Given the description of an element on the screen output the (x, y) to click on. 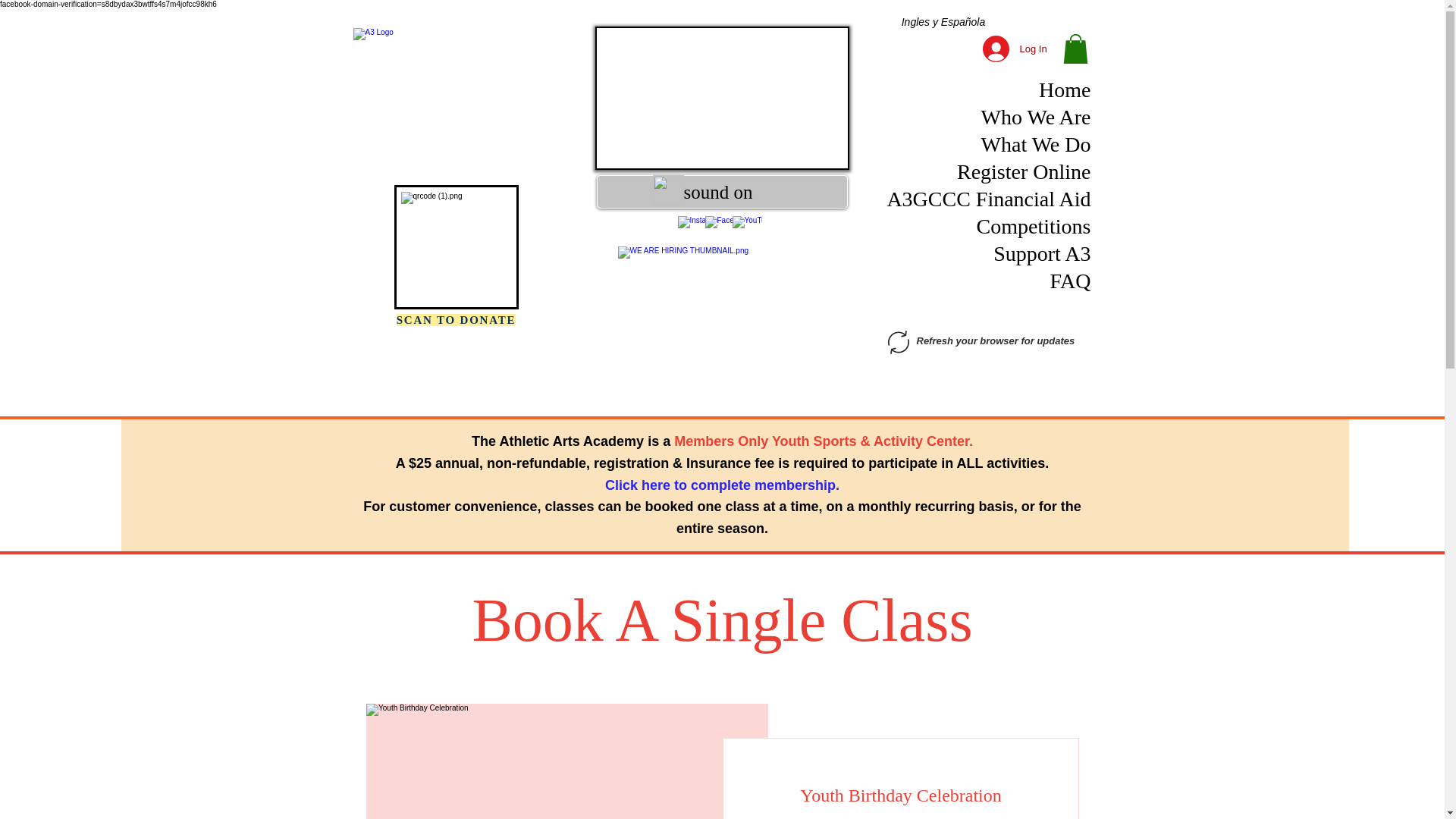
Home (1005, 89)
Youth Birthday Celebration (900, 795)
A3GCCC Financial Aid (1005, 199)
Click here to complete membership. (722, 485)
The Athletic Arts Academy is a (572, 441)
A4 new logo.png (456, 101)
Register Online (1005, 171)
Log In (1006, 48)
Who We Are (1005, 117)
FAQ (1005, 280)
Competitions (1005, 226)
